Given the description of an element on the screen output the (x, y) to click on. 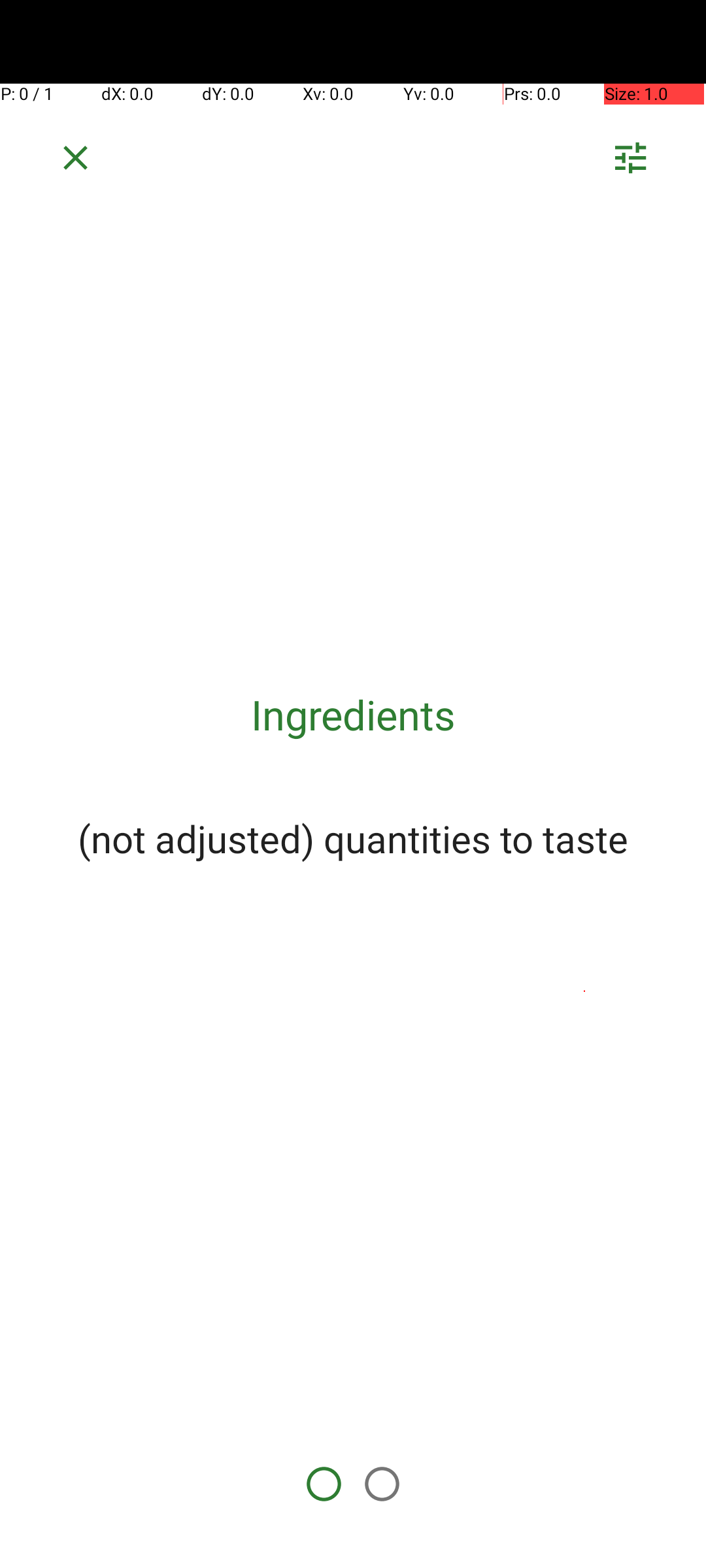
(not adjusted) quantities to taste Element type: android.widget.TextView (352, 838)
